Given the description of an element on the screen output the (x, y) to click on. 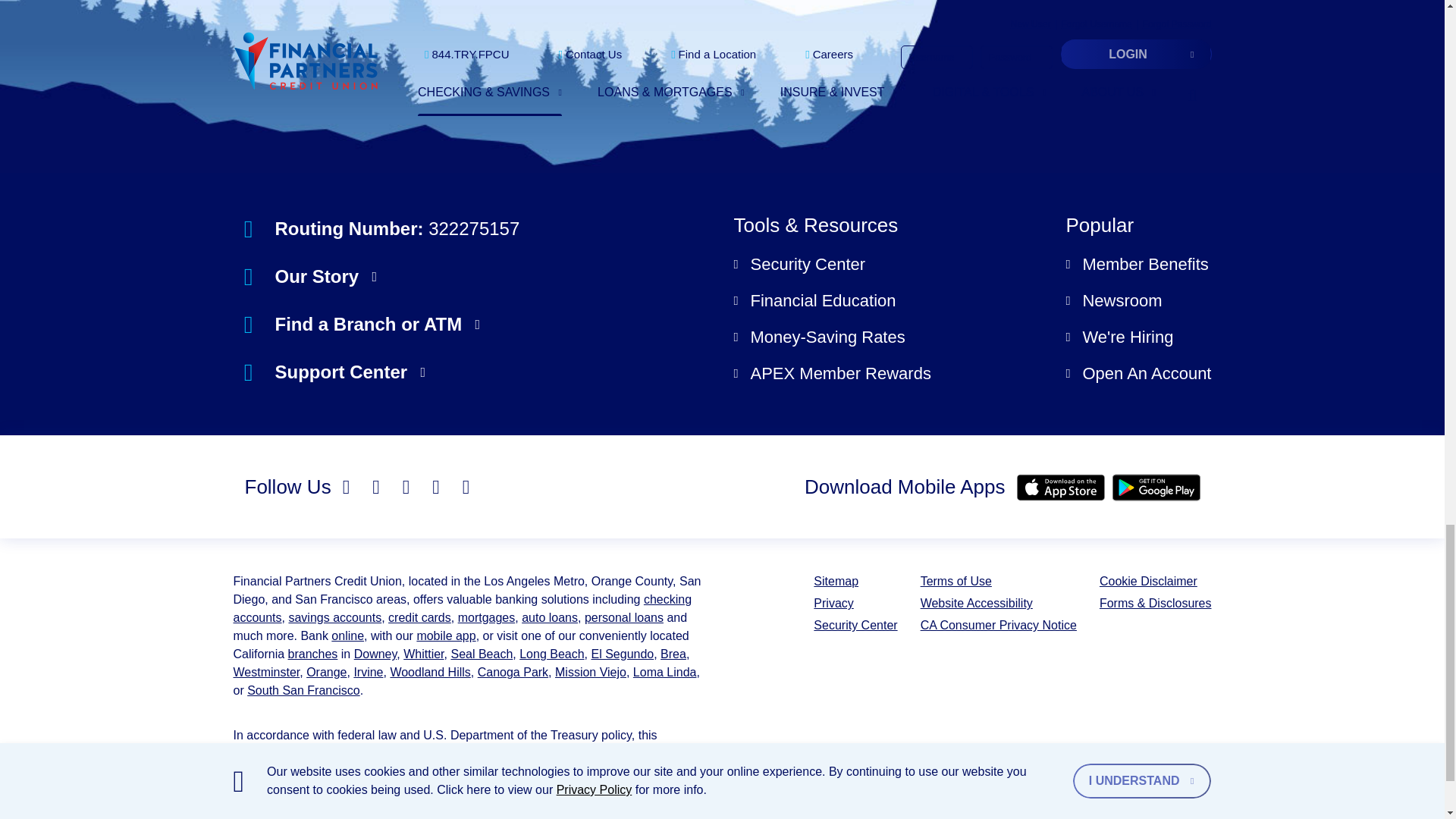
Federally insured by NCUA (1031, 800)
